Given the description of an element on the screen output the (x, y) to click on. 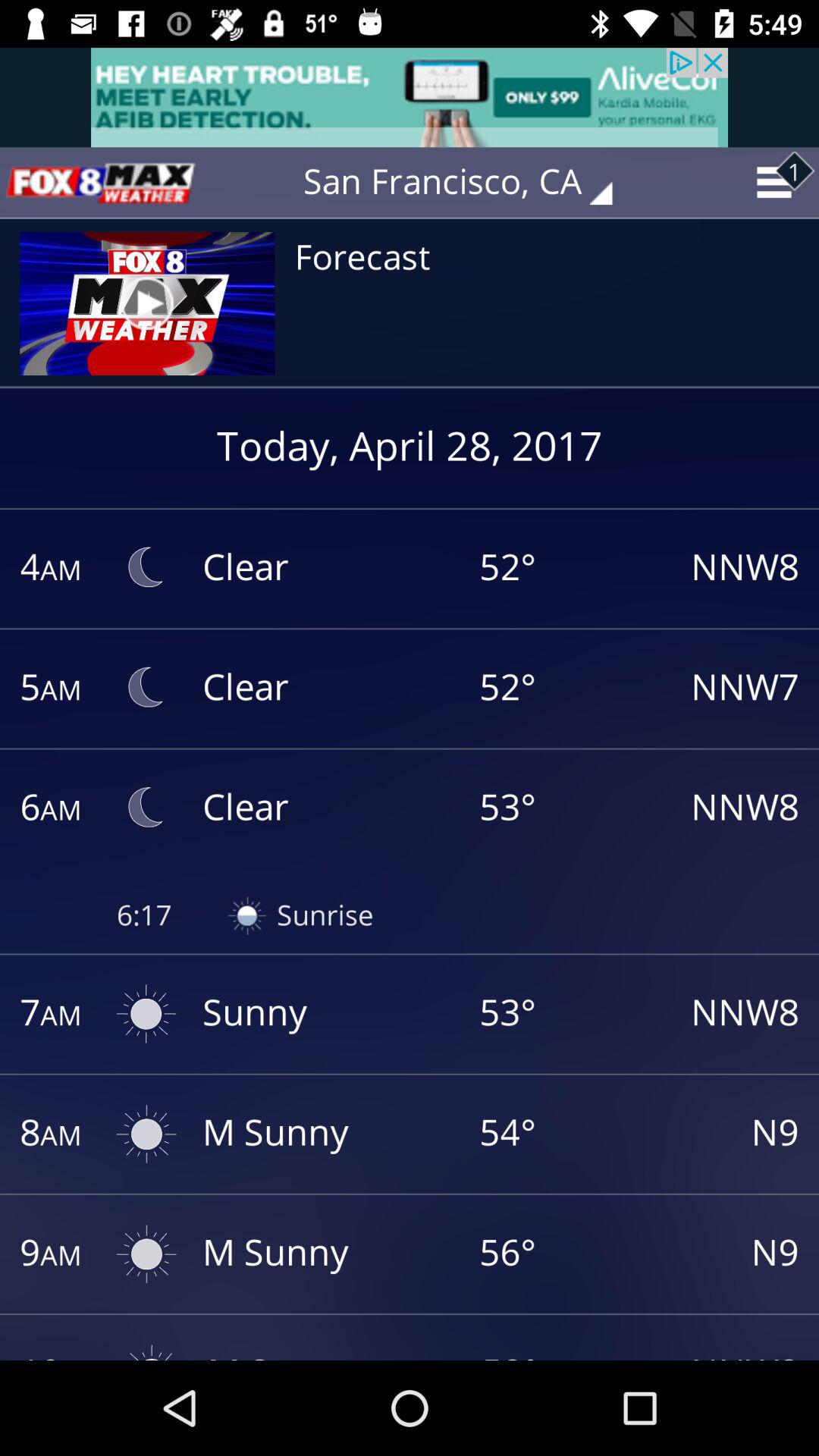
see advertisement (409, 97)
